Given the description of an element on the screen output the (x, y) to click on. 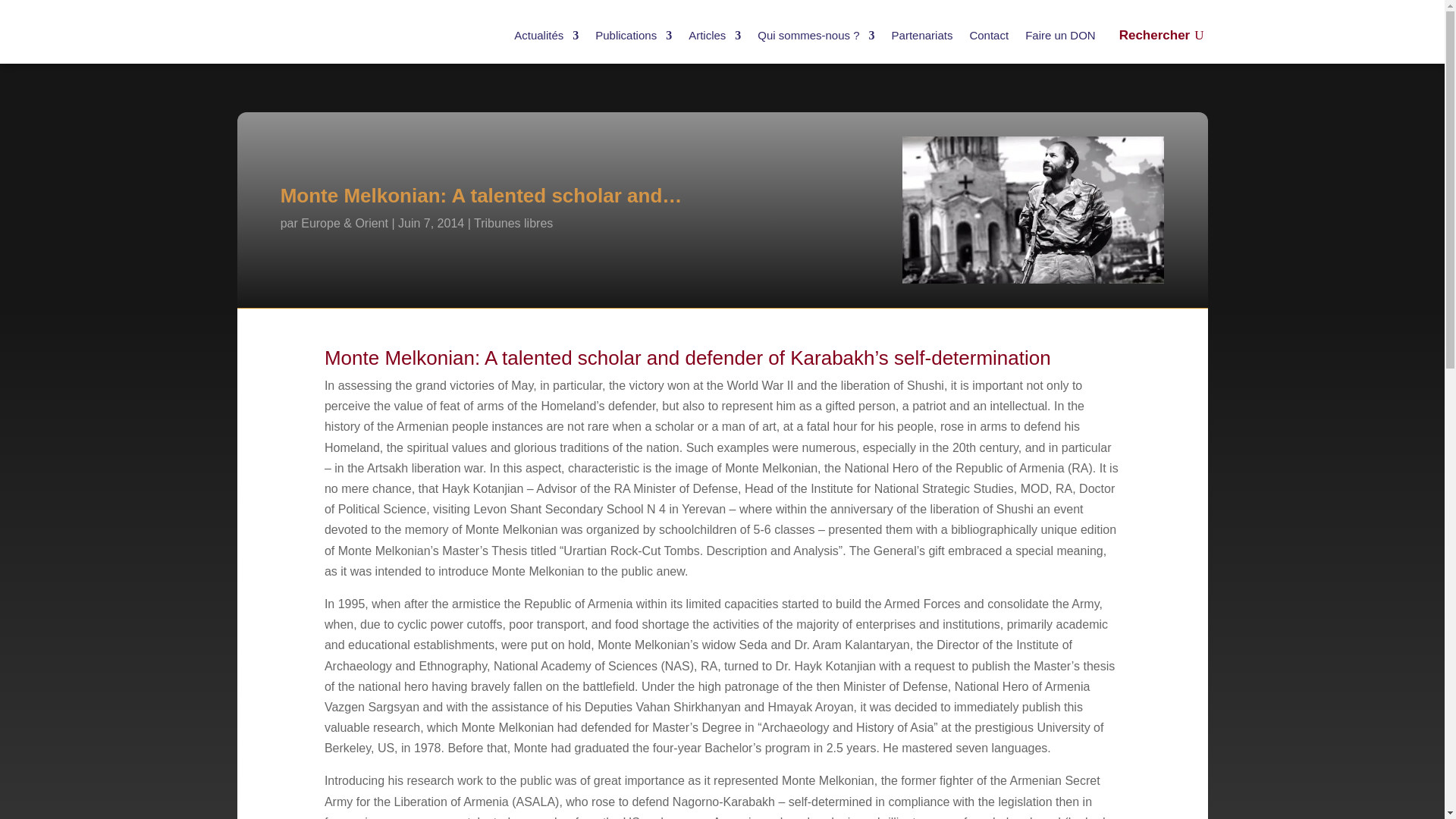
Contact (989, 35)
Publications (633, 35)
Qui sommes-nous ? (816, 35)
Articles (714, 35)
Faire un DON (1060, 35)
monte (1033, 209)
Tribunes libres (513, 223)
Partenariats (922, 35)
